Given the description of an element on the screen output the (x, y) to click on. 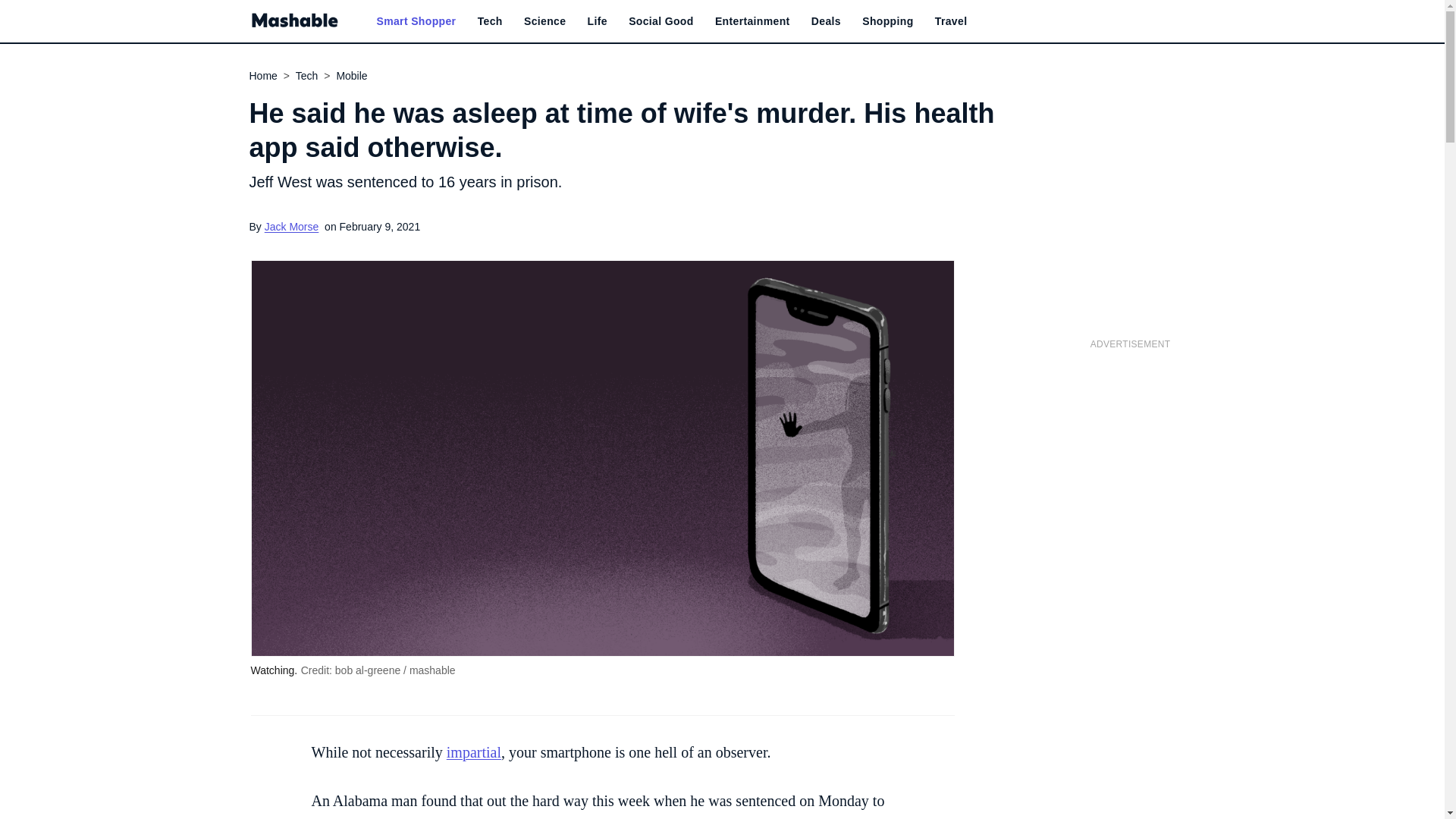
Entertainment (752, 21)
Smart Shopper (415, 21)
Social Good (661, 21)
Shopping (886, 21)
Travel (951, 21)
Life (597, 21)
Tech (489, 21)
Science (545, 21)
Deals (825, 21)
